Given the description of an element on the screen output the (x, y) to click on. 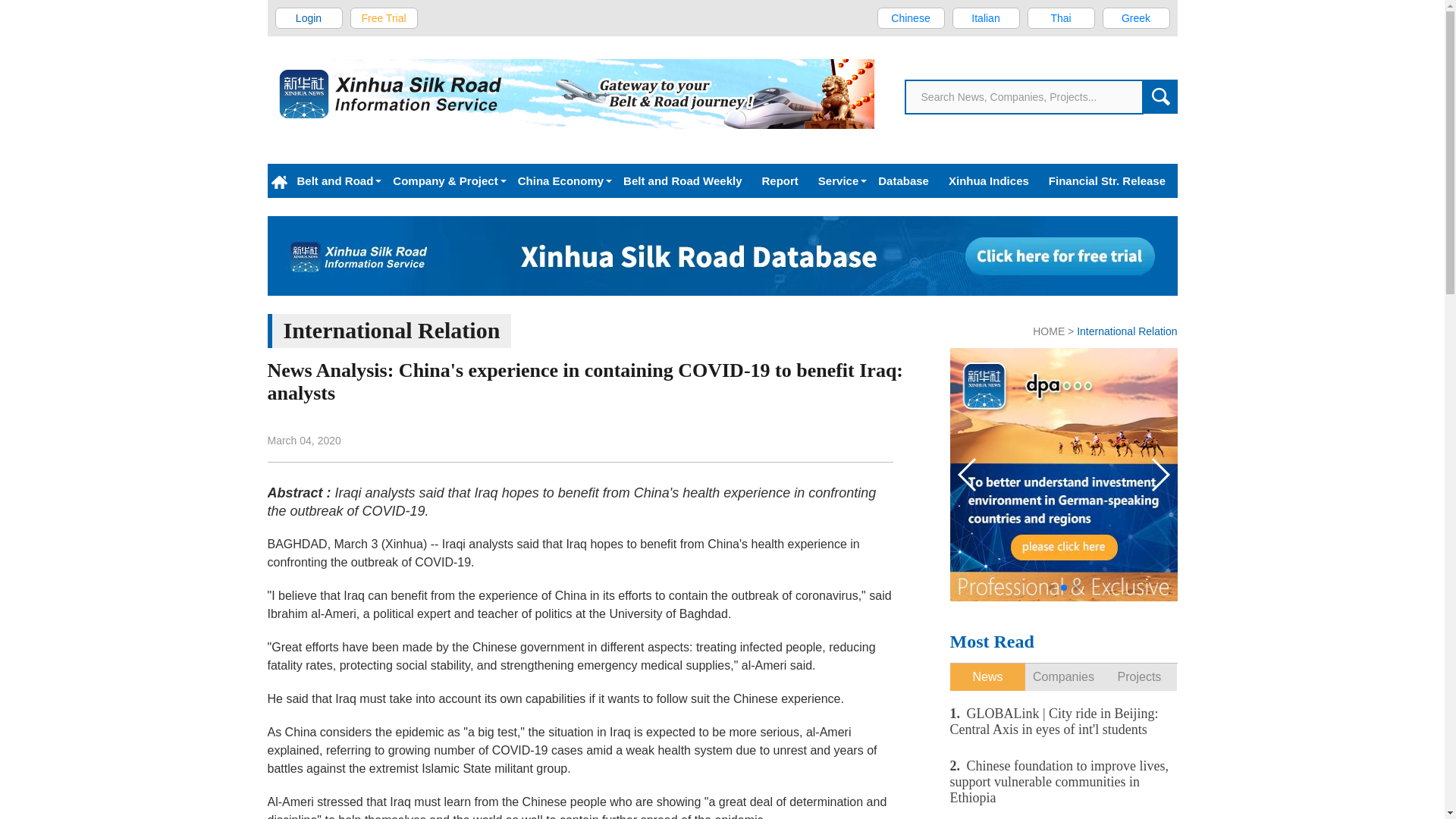
Login (309, 17)
Free Trial (383, 17)
Chinese (909, 17)
one belt one road login (309, 17)
Belt and Road Weekly (681, 180)
one belt one road Free Trial (383, 17)
Belt and Road (334, 180)
Service (837, 180)
China Economy (560, 180)
Report (780, 180)
Greek (1136, 17)
Italian (986, 17)
Thai (1060, 17)
Xinhua Silk Road Database (721, 255)
